Given the description of an element on the screen output the (x, y) to click on. 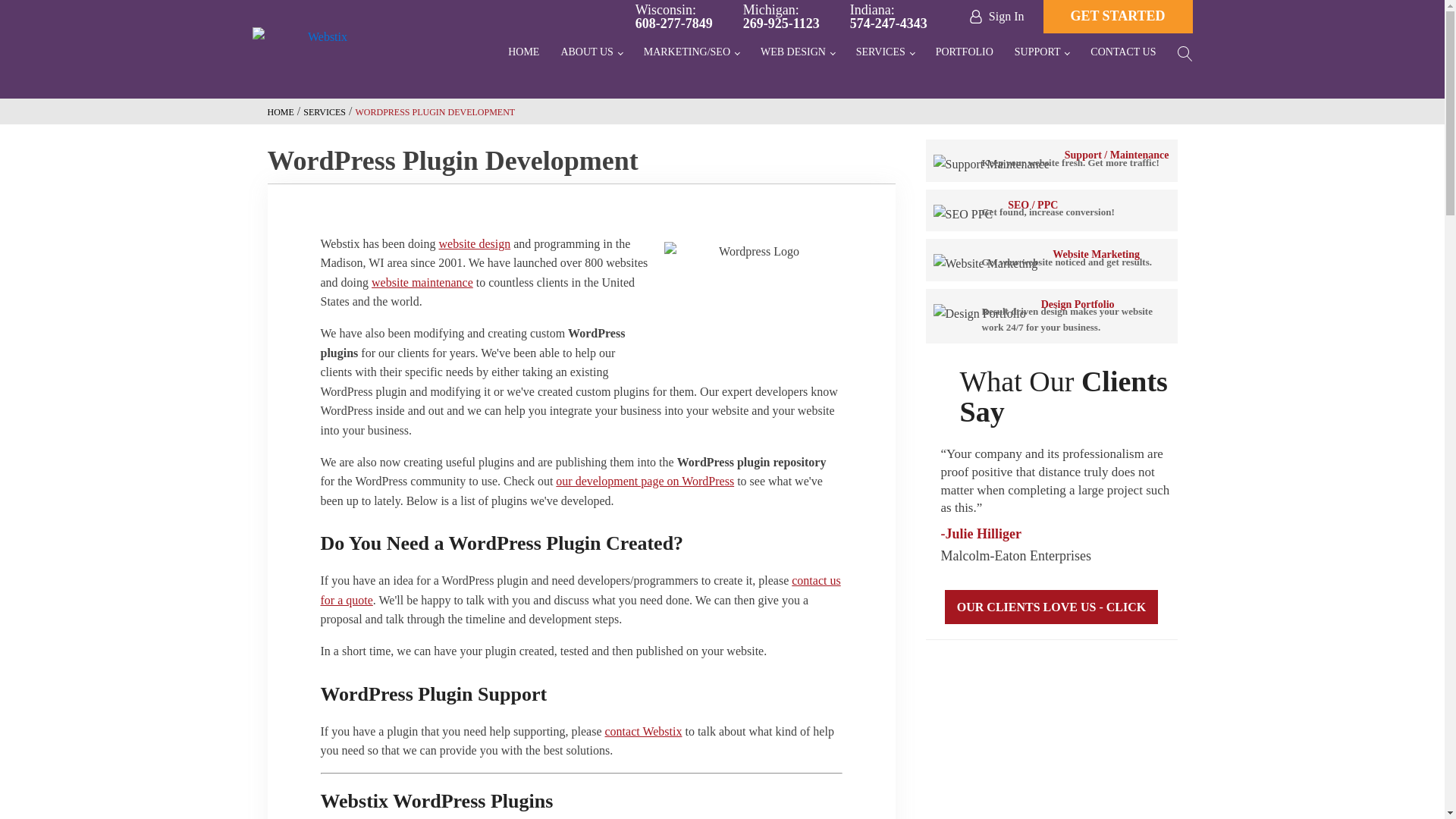
Sign In (997, 16)
WEB DESIGN (888, 16)
ABOUT US (780, 16)
HOME (797, 54)
GET STARTED (590, 54)
